Given the description of an element on the screen output the (x, y) to click on. 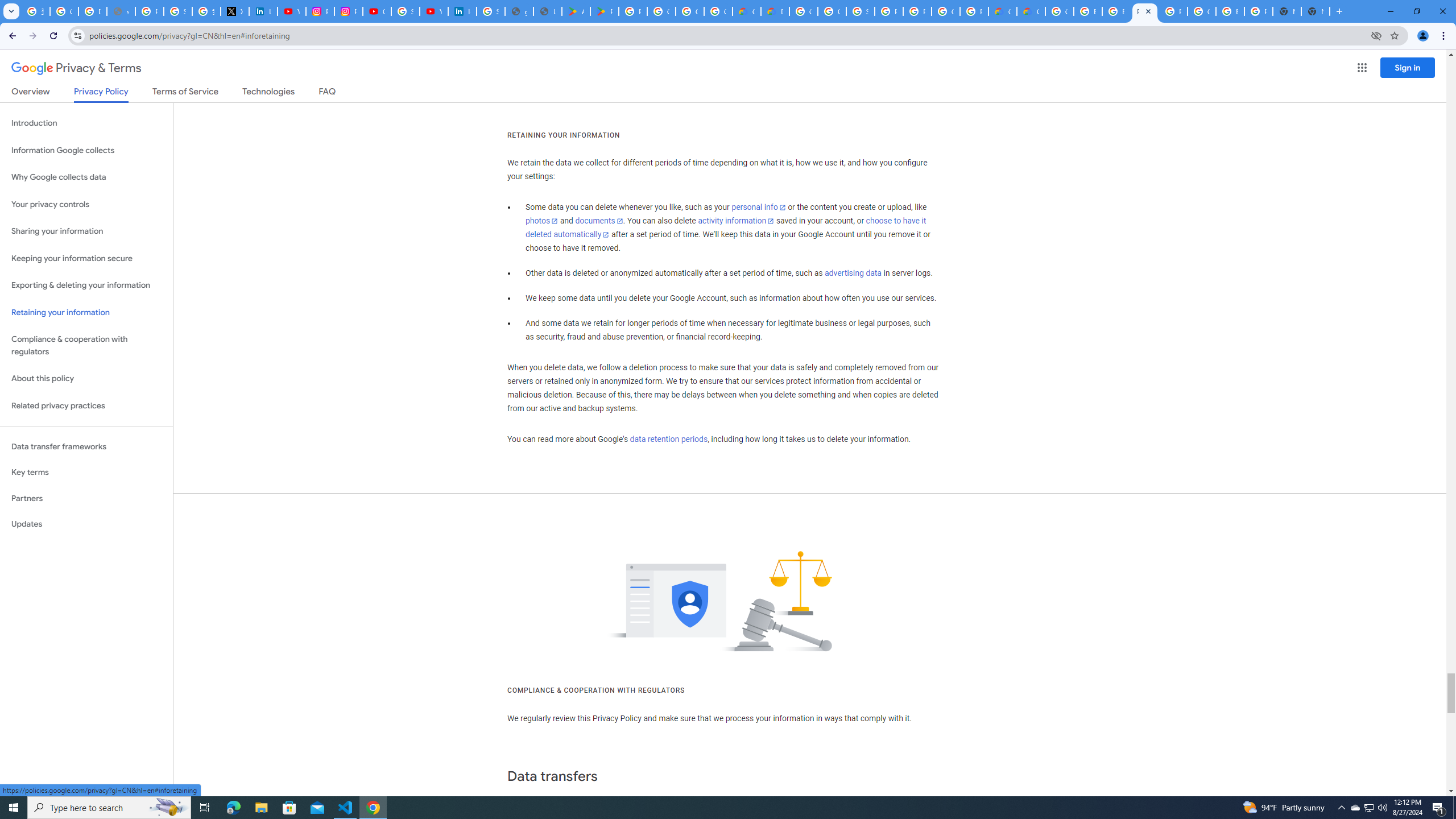
data retention periods (667, 439)
Google Workspace - Specific Terms (690, 11)
Browse Chrome as a guest - Computer - Google Chrome Help (1088, 11)
